Given the description of an element on the screen output the (x, y) to click on. 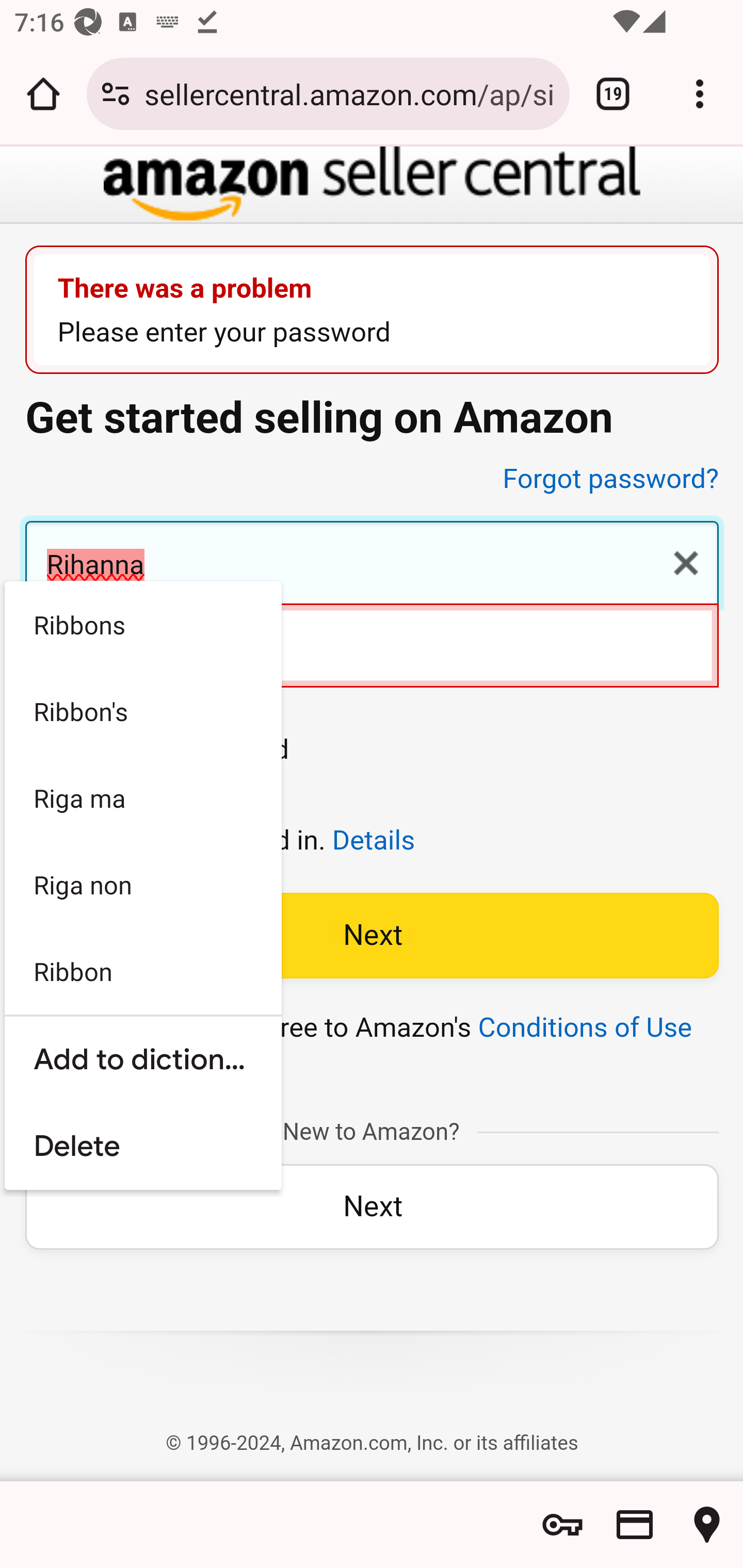
Ribbons (142, 624)
Ribbon's (142, 710)
Riga ma (142, 798)
Riga non (142, 885)
Ribbon (142, 971)
Add to dictionary (142, 1059)
Delete (142, 1146)
